Given the description of an element on the screen output the (x, y) to click on. 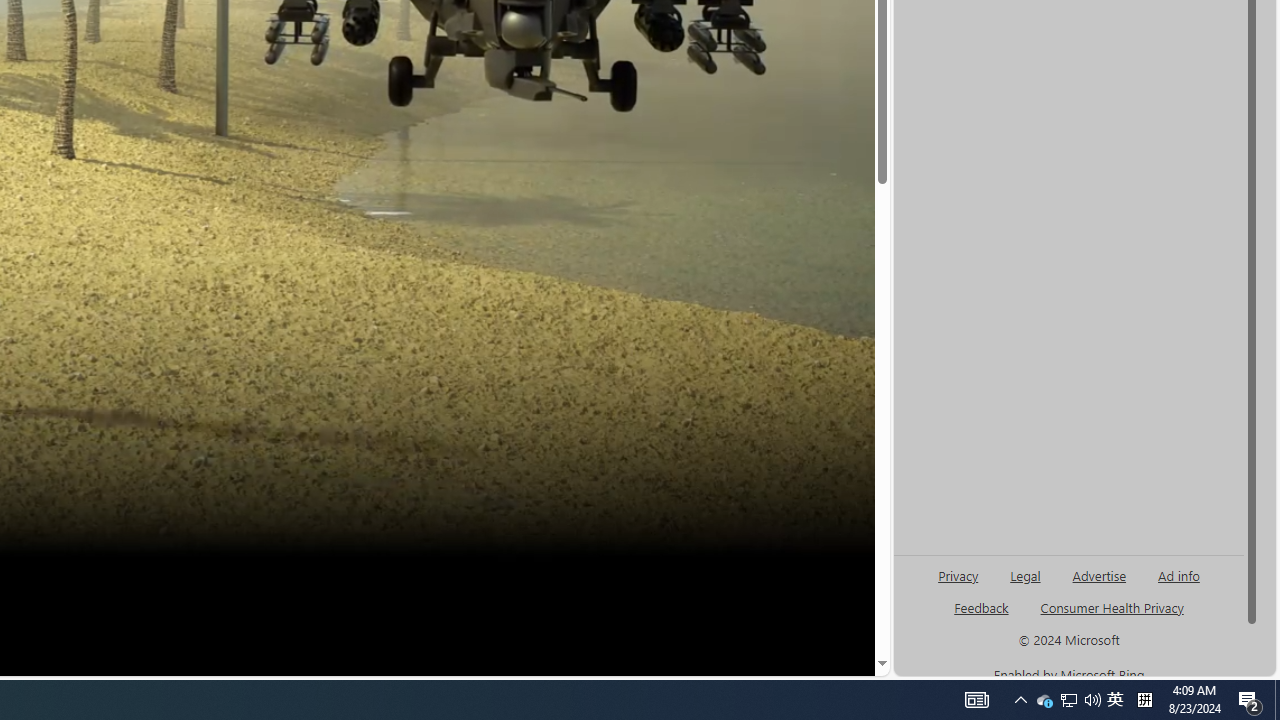
AutomationID: sb_feedback (980, 607)
AutomationID: genId96 (981, 615)
